Given the description of an element on the screen output the (x, y) to click on. 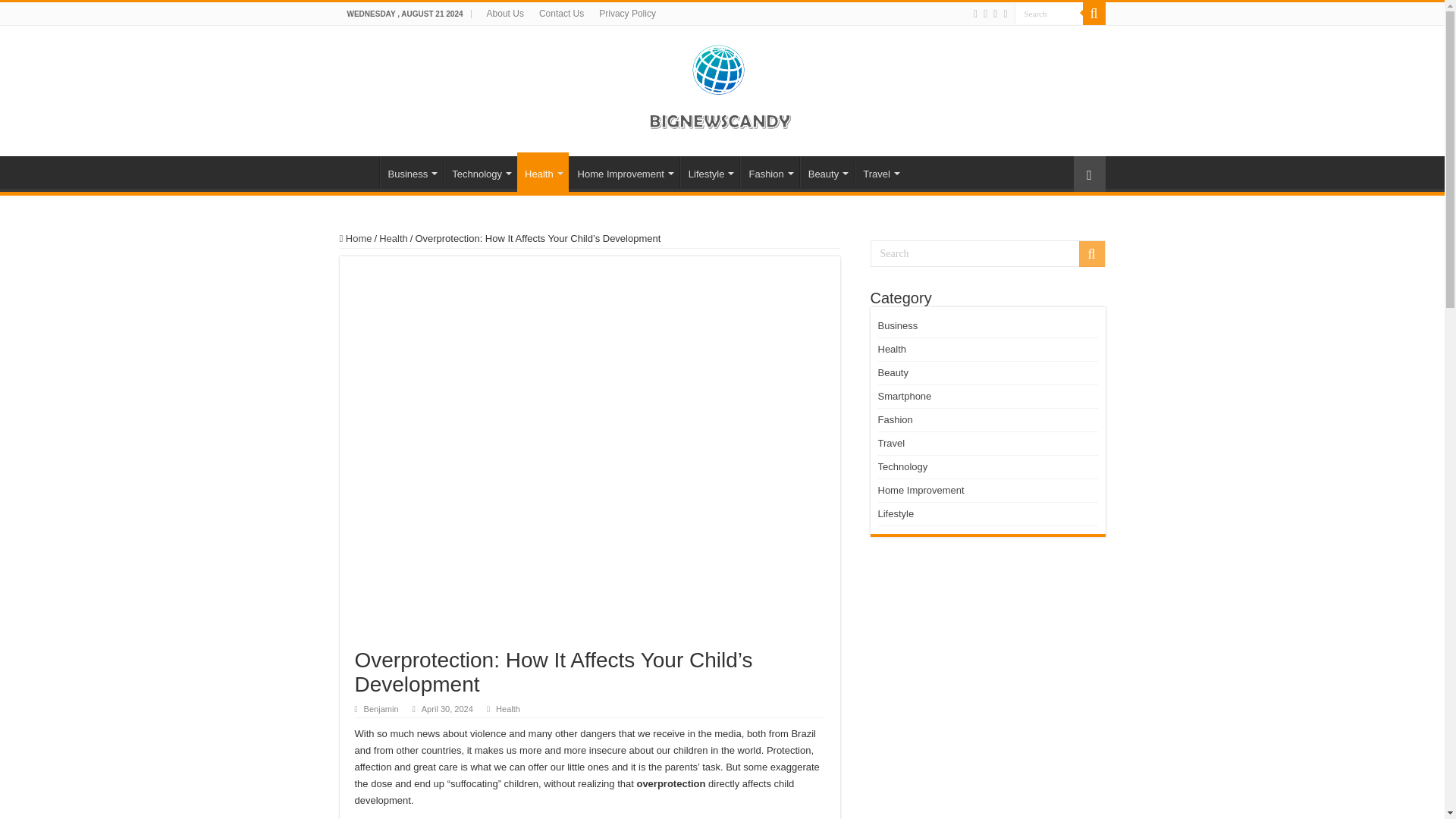
Home (358, 172)
Search (1048, 13)
Privacy Policy (627, 13)
Technology (480, 172)
Search (987, 253)
Search (1048, 13)
About Us (505, 13)
Contact Us (561, 13)
Search (1094, 13)
Search (1048, 13)
